Given the description of an element on the screen output the (x, y) to click on. 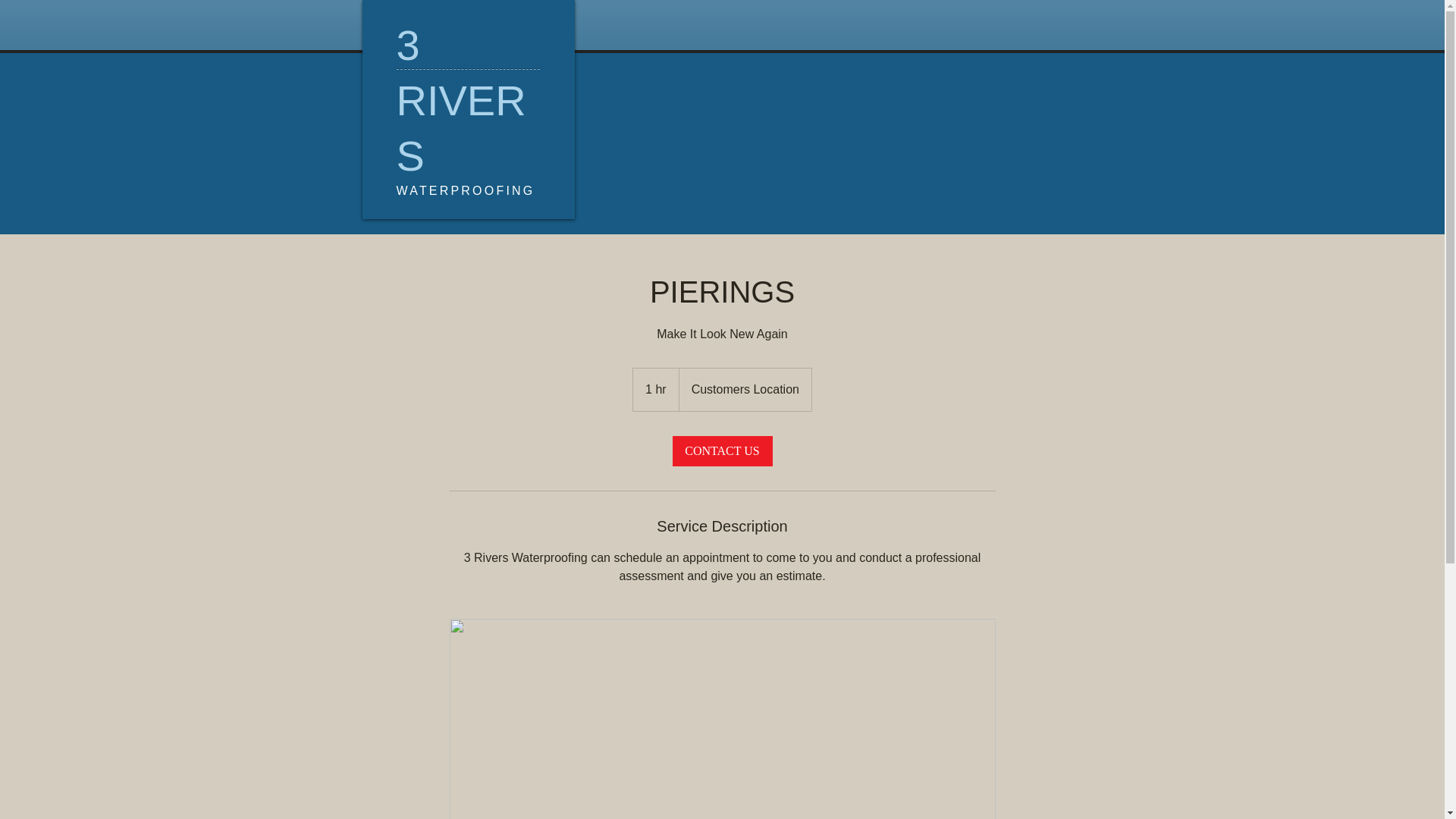
WATERPROOFING Element type: text (464, 190)
CONTACT US Element type: text (721, 451)
3 RIVERS Element type: text (460, 100)
